Given the description of an element on the screen output the (x, y) to click on. 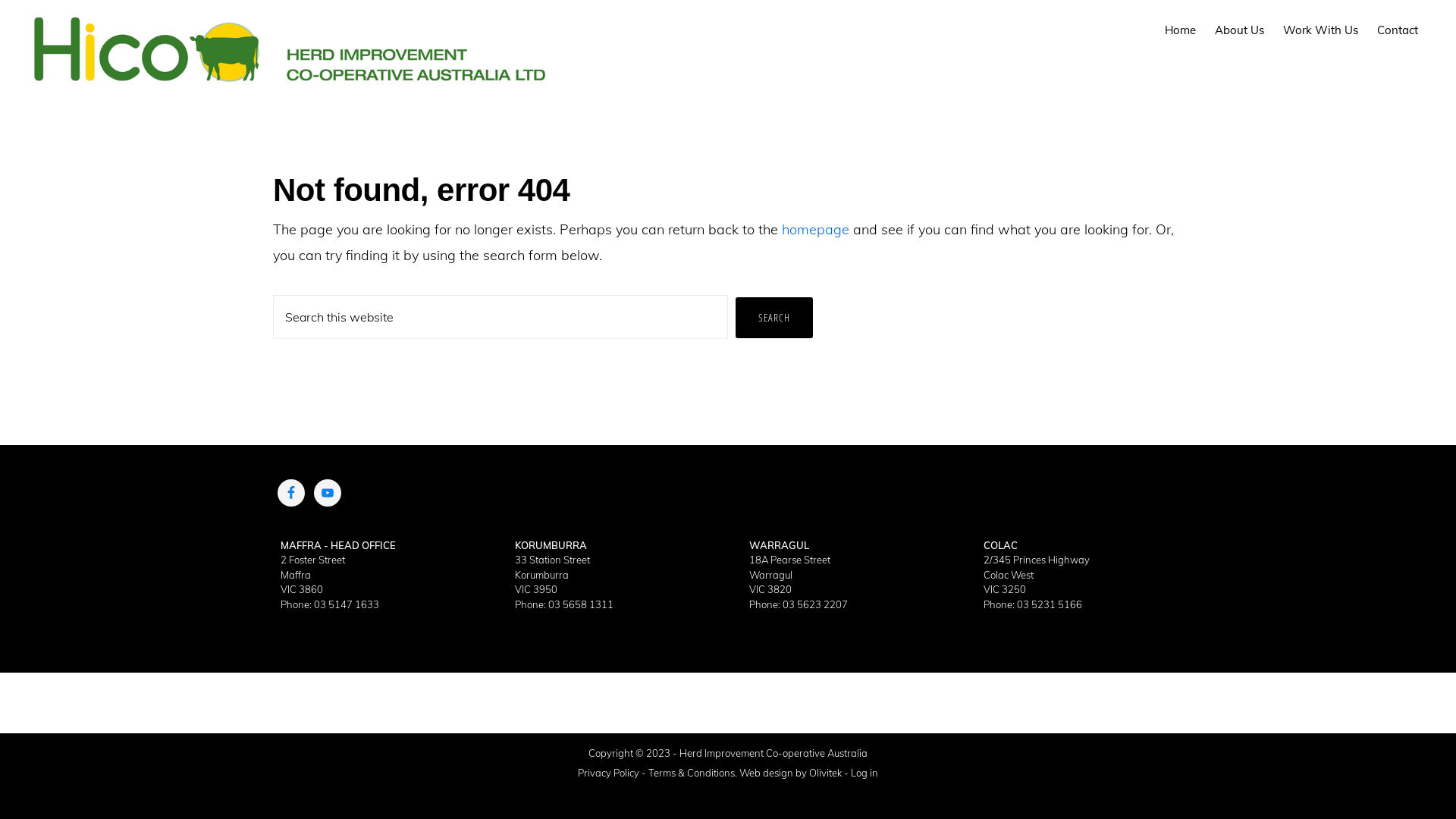
Privacy Policy Element type: text (608, 773)
Olivitek Element type: text (825, 773)
Phone: 03 5147 1633 Element type: text (329, 604)
Skip to primary navigation Element type: text (0, 0)
Work With Us Element type: text (1320, 29)
Search Element type: text (773, 317)
Log in Element type: text (864, 773)
Contact Element type: text (1397, 29)
About Us Element type: text (1239, 29)
Home Element type: text (1180, 29)
Phone: 03 5658 1311 Element type: text (563, 604)
Phone: 03 5231 5166 Element type: text (1032, 604)
Terms & Conditions Element type: text (691, 773)
Phone: 03 5623 2207 Element type: text (798, 604)
homepage Element type: text (815, 229)
